Given the description of an element on the screen output the (x, y) to click on. 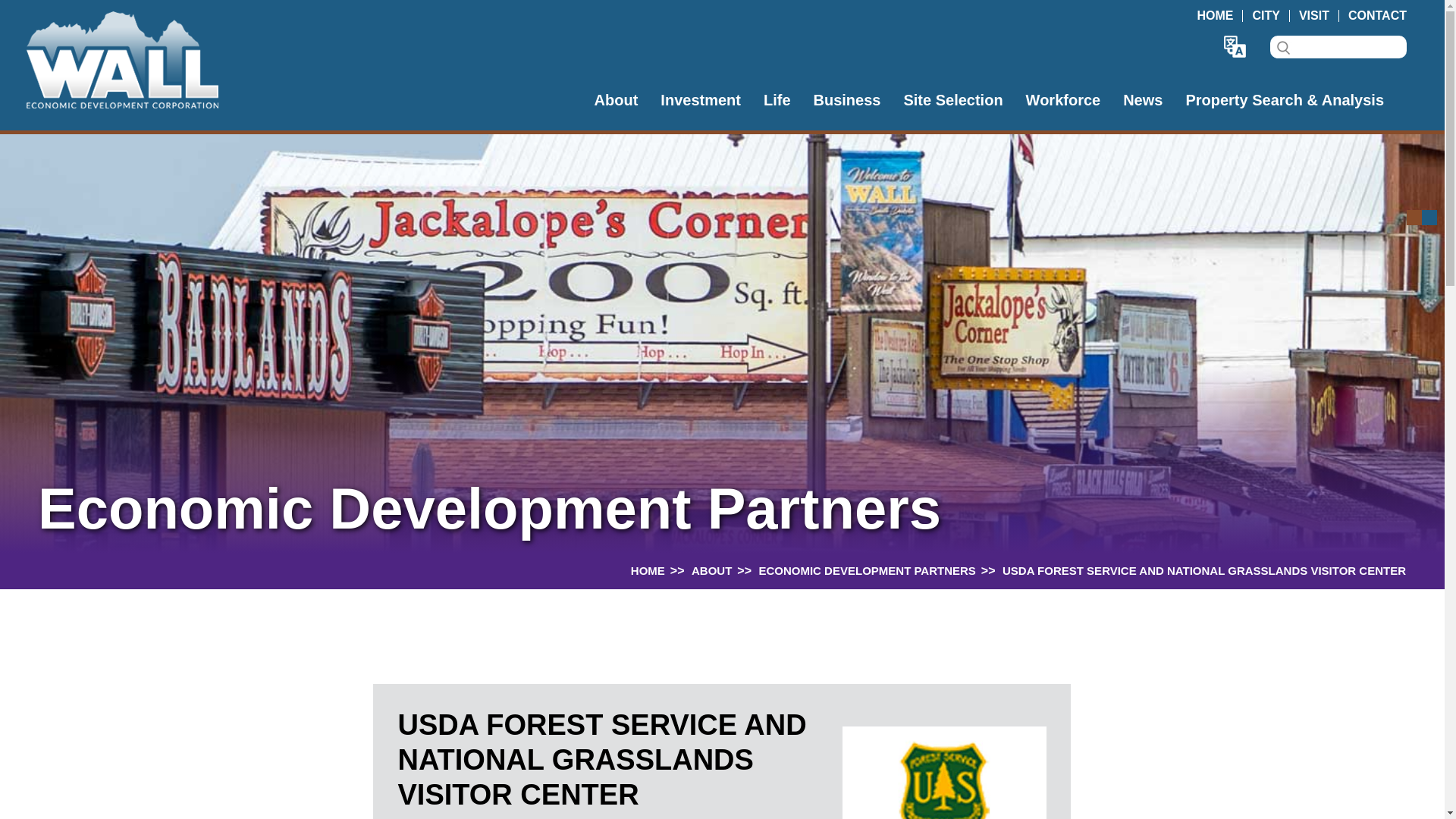
Site Selection (952, 99)
Life (777, 99)
VISIT (1313, 15)
Business (847, 99)
CITY (1265, 15)
Investment (700, 99)
HOME (1214, 15)
About (616, 99)
CONTACT (1377, 15)
